Given the description of an element on the screen output the (x, y) to click on. 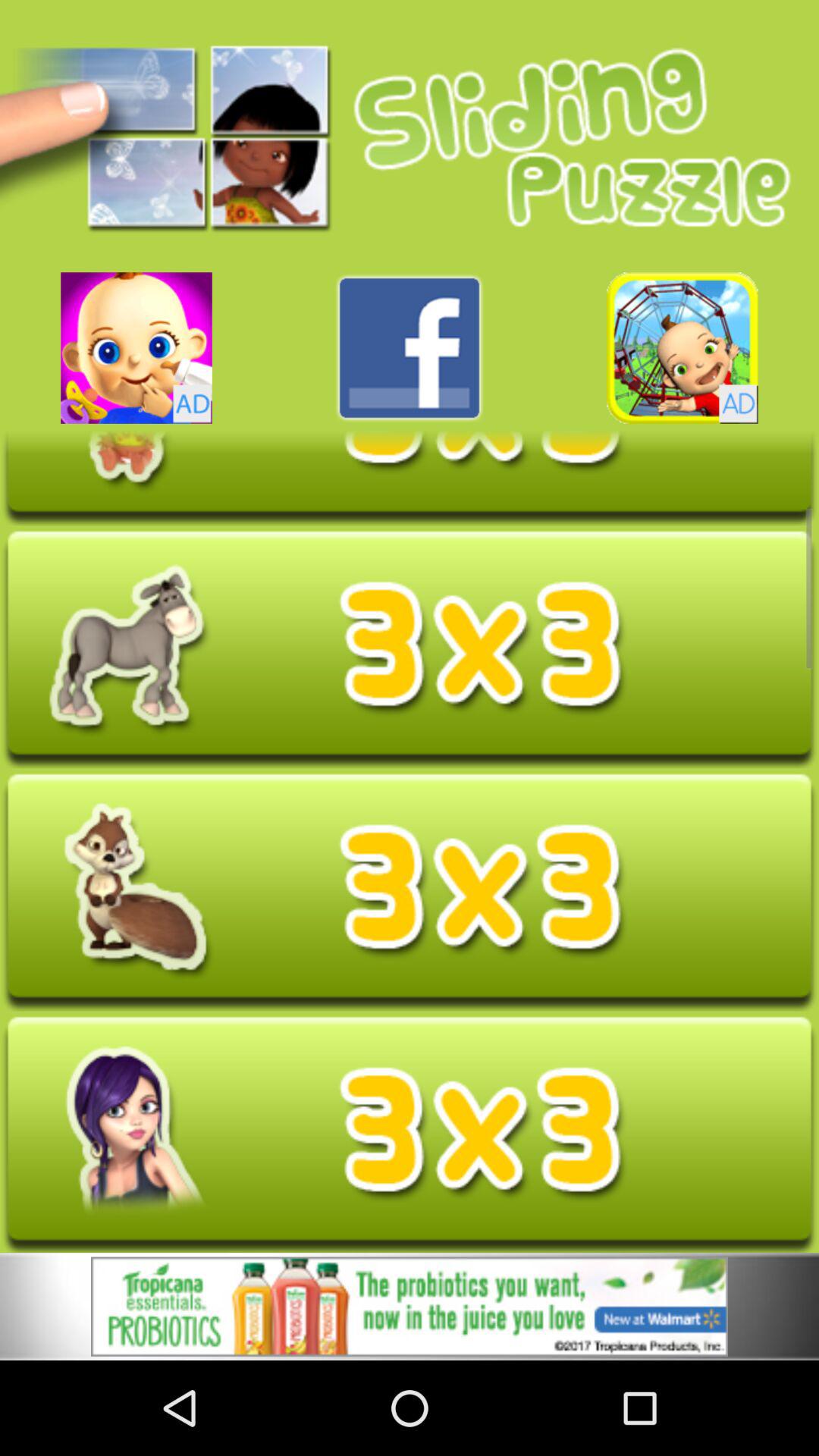
adverttisment box (409, 1309)
